Given the description of an element on the screen output the (x, y) to click on. 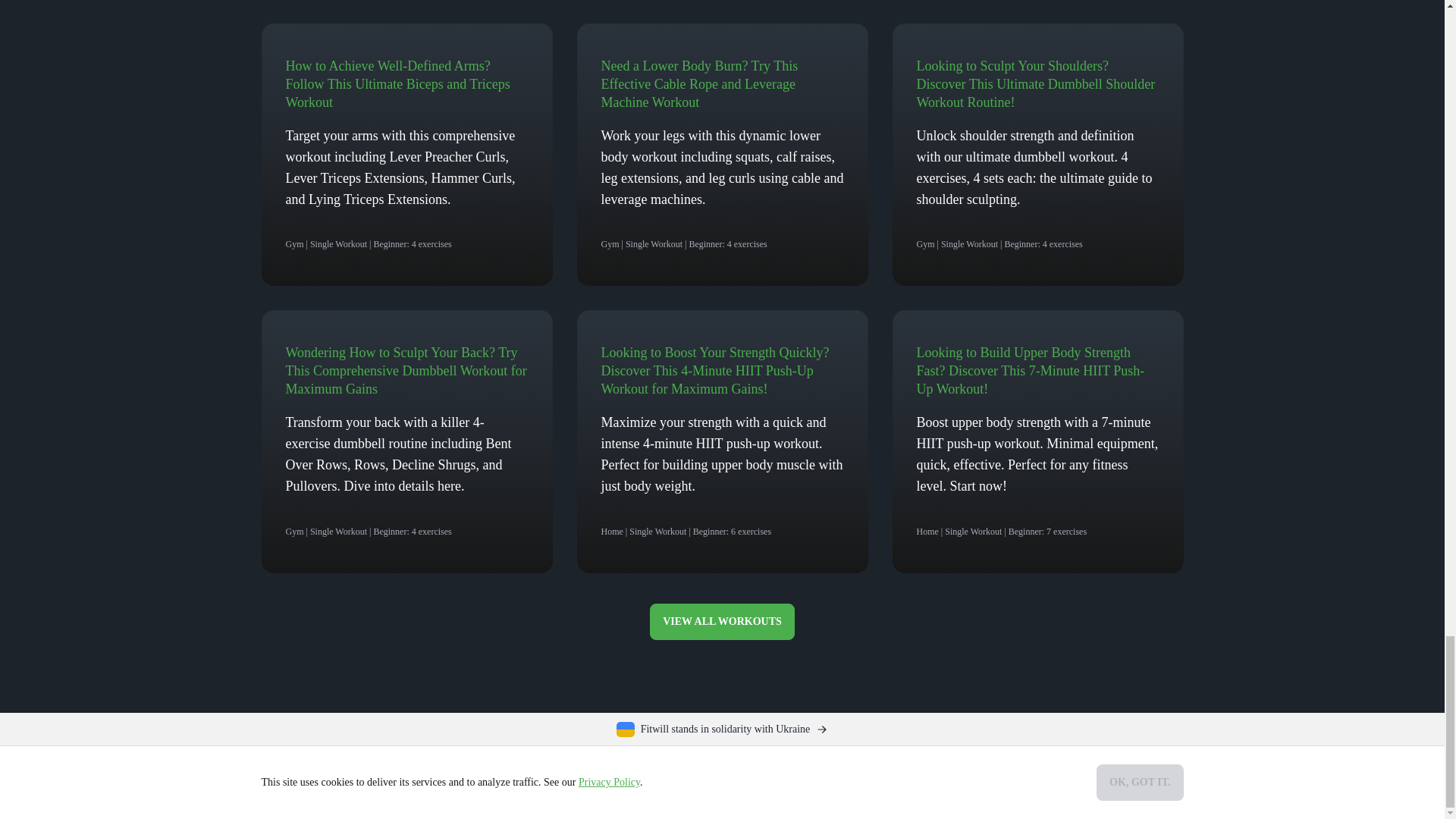
Exercise Library (448, 781)
Fitwill: X (1119, 782)
Privacy (551, 781)
Terms (509, 781)
VIEW ALL WORKOUTS (721, 621)
Fitwill: YouTube (1166, 782)
Fitwill stands in solidarity with Ukraine (721, 729)
Workout Library (365, 781)
Fitwill: Instagram (1072, 782)
Support Ukraine (721, 729)
